Given the description of an element on the screen output the (x, y) to click on. 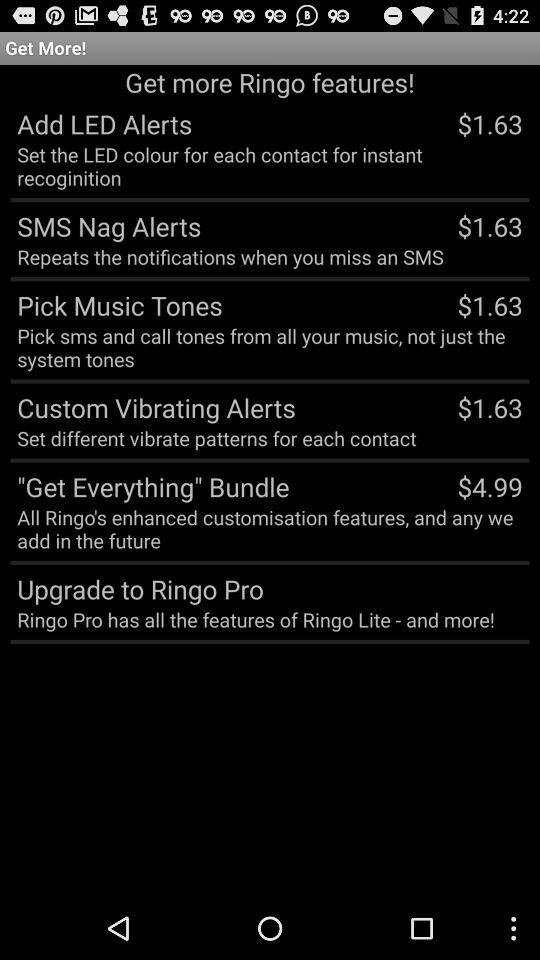
open set the led item (269, 165)
